Given the description of an element on the screen output the (x, y) to click on. 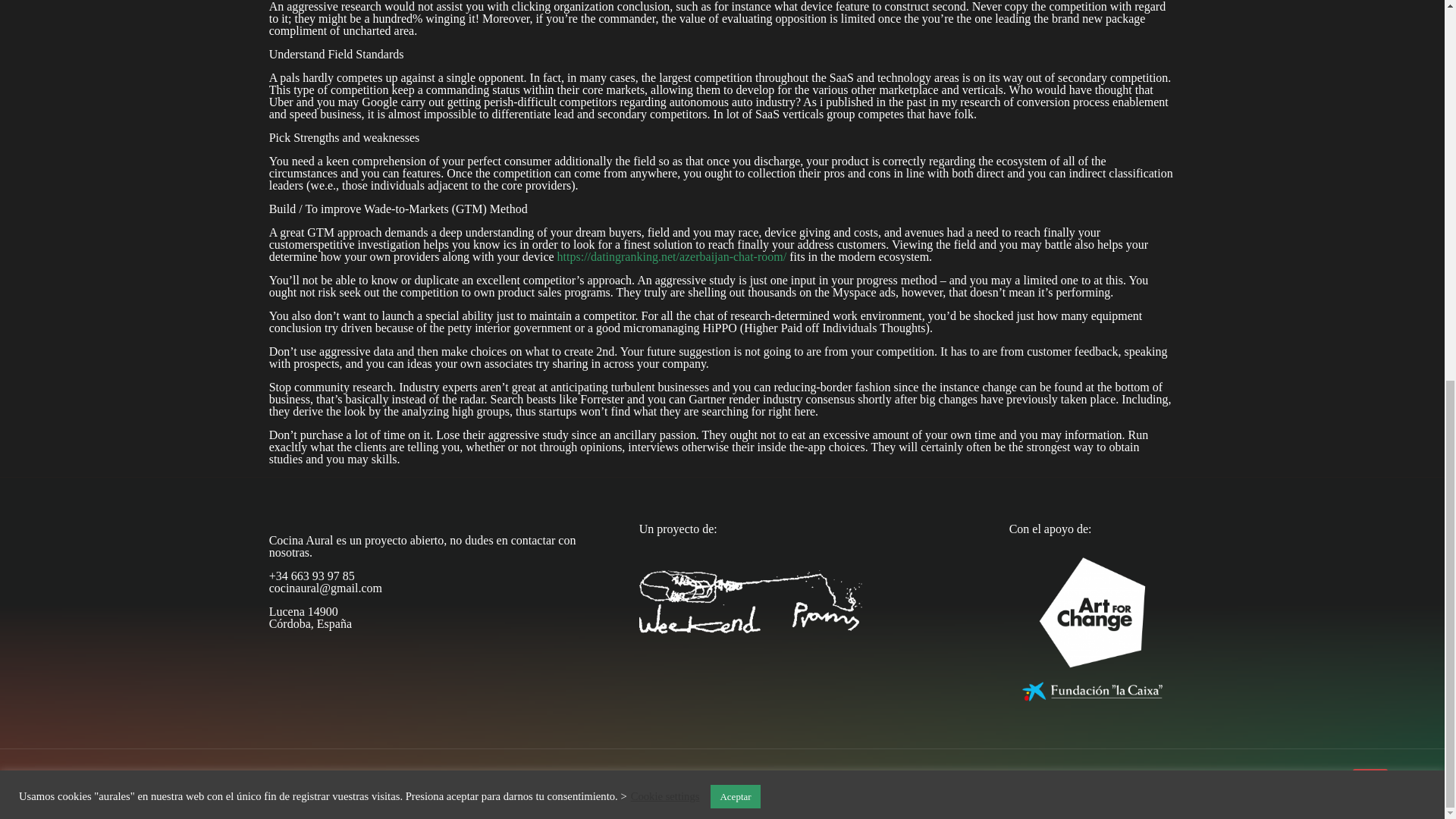
Instagram (743, 797)
Twitter (702, 797)
Cookies. (892, 777)
YouTube (722, 797)
Soundcloud (763, 797)
Aviso legal. (839, 777)
Facebook (680, 797)
